Given the description of an element on the screen output the (x, y) to click on. 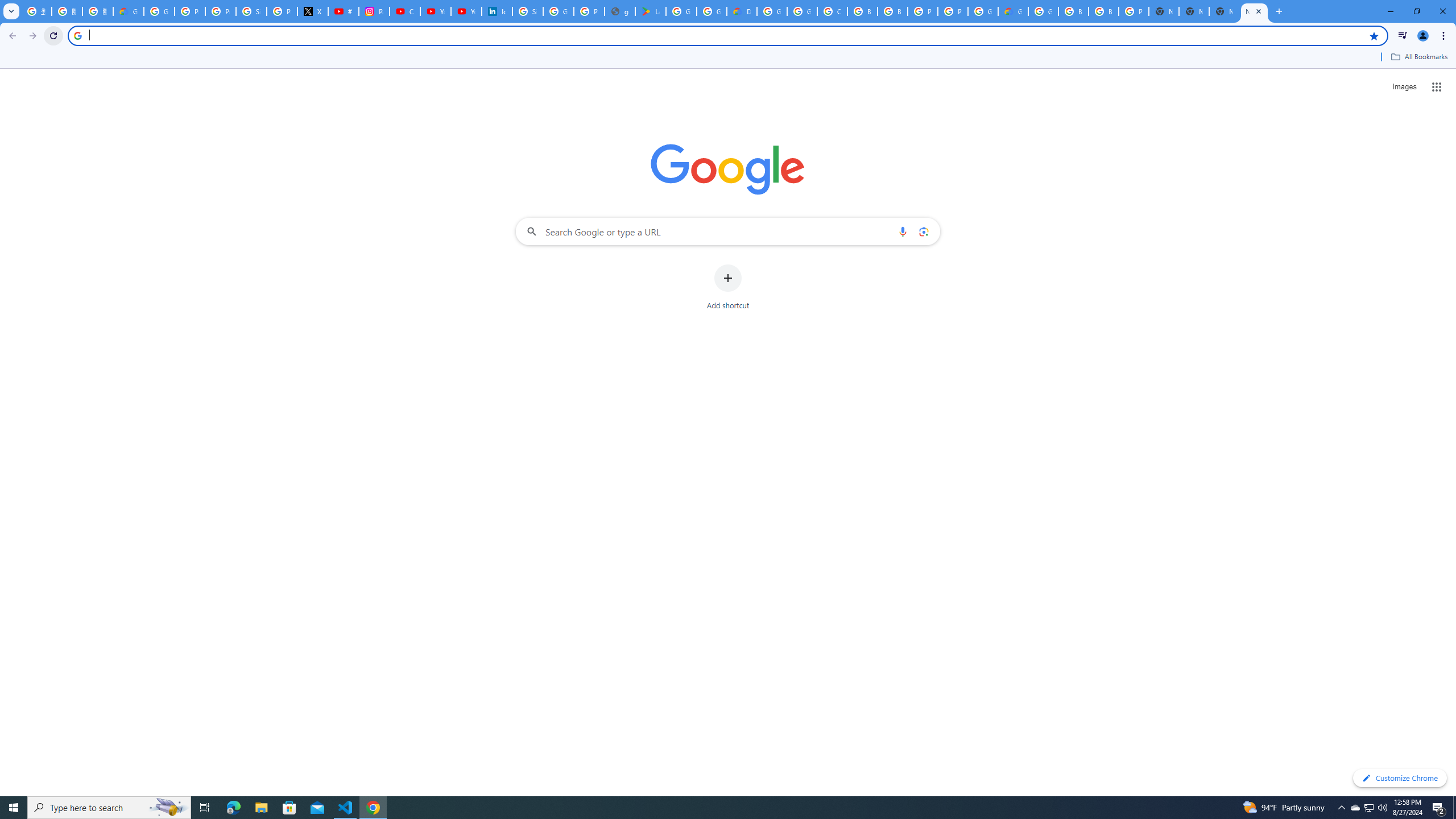
Browse Chrome as a guest - Computer - Google Chrome Help (862, 11)
Privacy Help Center - Policies Help (220, 11)
Google Cloud Privacy Notice (127, 11)
Last Shelter: Survival - Apps on Google Play (650, 11)
